Given the description of an element on the screen output the (x, y) to click on. 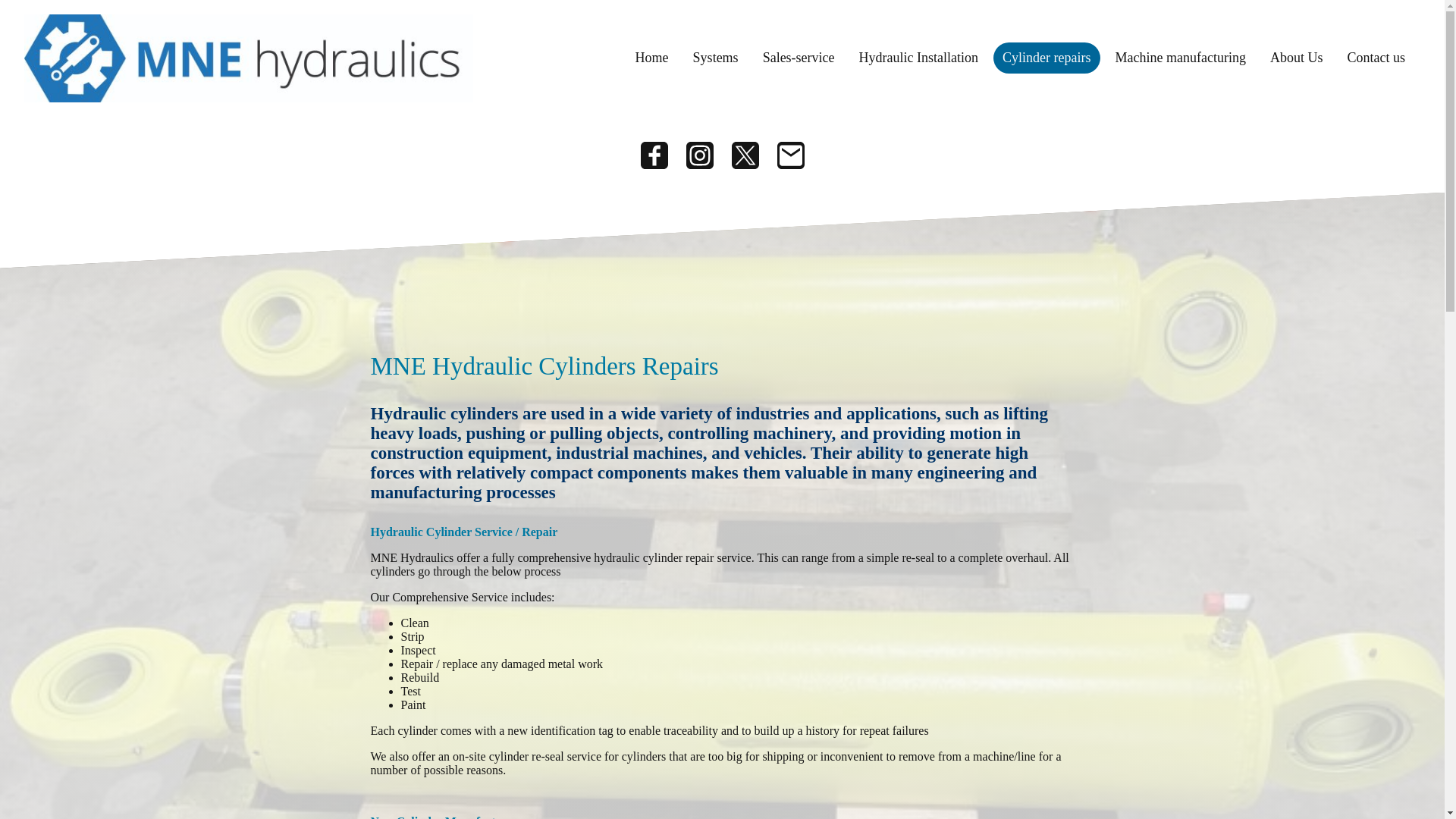
Home (652, 58)
Cylinder repairs (1045, 58)
About Us (1296, 58)
Systems (715, 58)
Hydraulic Installation (918, 58)
Contact us (1375, 58)
Machine manufacturing (1180, 58)
Sales-service (799, 58)
